Given the description of an element on the screen output the (x, y) to click on. 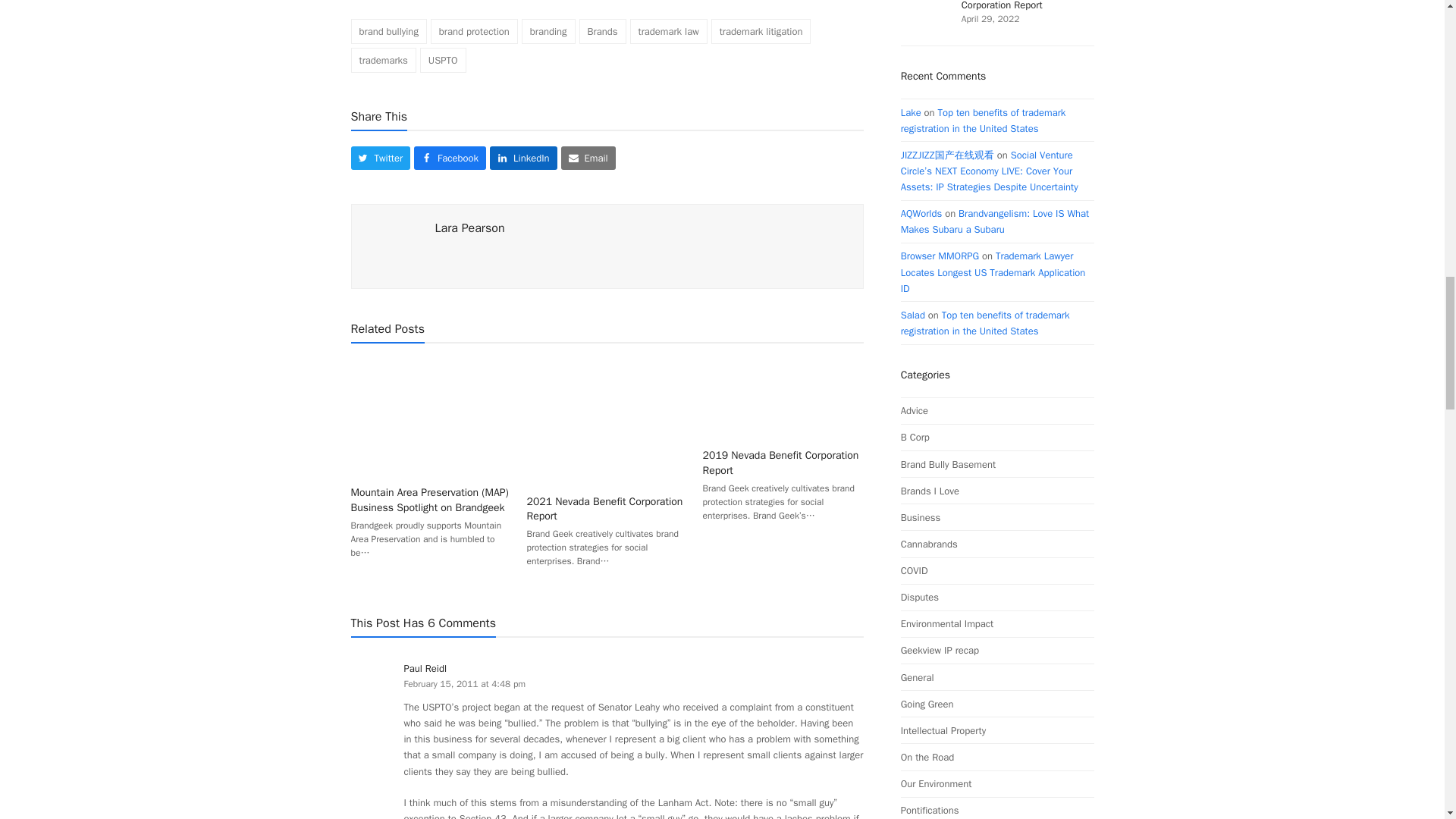
brand bullying (388, 31)
2019 Nevada Benefit Corporation Report (783, 396)
2021 Nevada Benefit Corporation Report (607, 420)
Visit Author Page (393, 245)
Visit Author Page (470, 227)
